Given the description of an element on the screen output the (x, y) to click on. 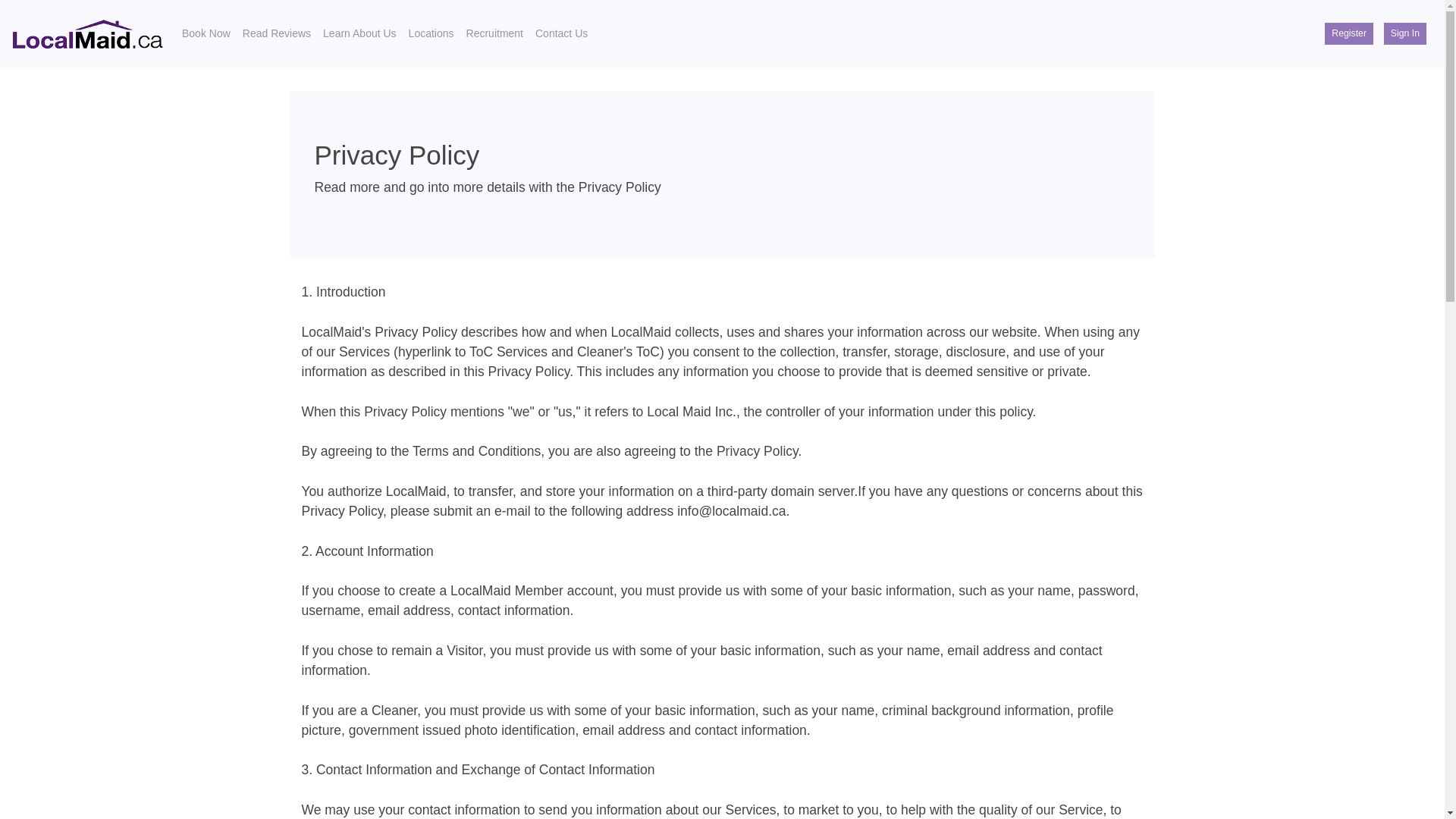
Contact Us (561, 33)
Learn About Us (360, 33)
Locations (431, 33)
Book Now (205, 33)
Register (1348, 33)
Recruitment (494, 33)
Read Reviews (276, 33)
Sign In (1405, 33)
